Given the description of an element on the screen output the (x, y) to click on. 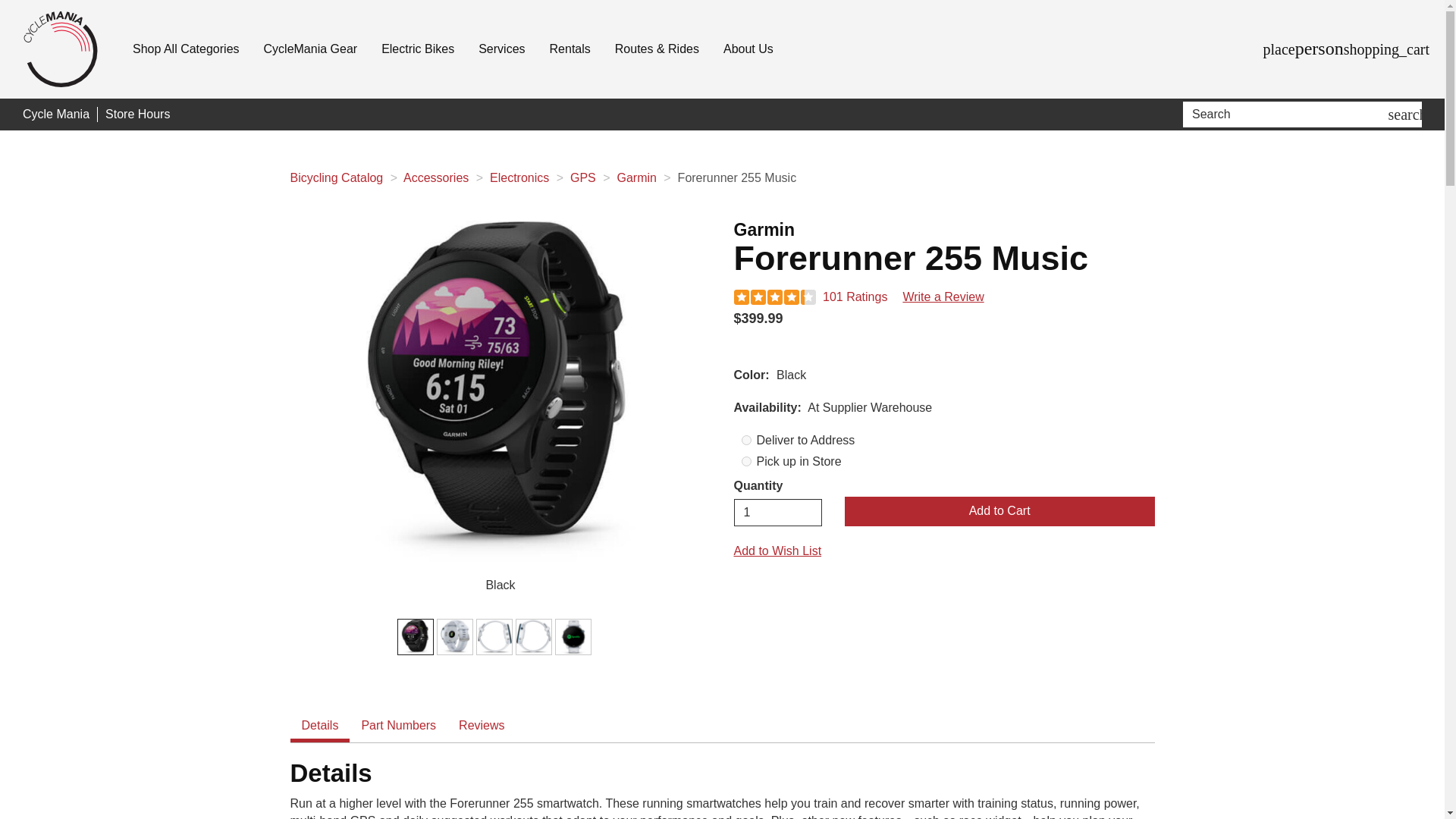
Search (1287, 114)
Store Hours (137, 114)
on (746, 439)
Cycle Mania Home Page (55, 114)
Color: Black (414, 636)
PayPal Message 1 (943, 344)
Cycle Mania Home Page (61, 48)
1 (777, 512)
Shop All Categories (185, 49)
on (746, 461)
